Given the description of an element on the screen output the (x, y) to click on. 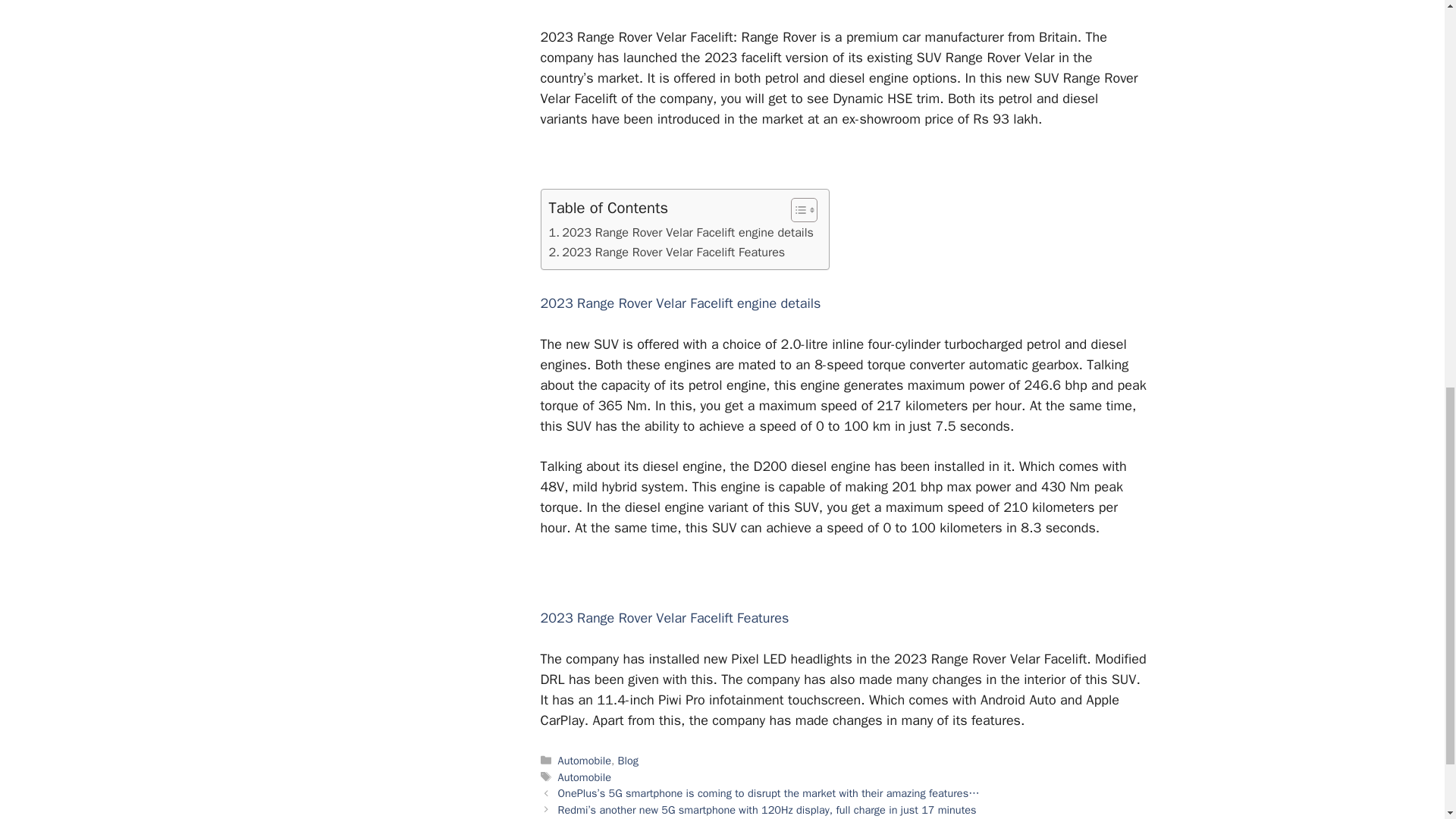
2023 Range Rover Velar Facelift engine details (680, 232)
2023 Range Rover Velar Facelift Features (667, 252)
Automobile (584, 776)
2023 Range Rover Velar Facelift Features (667, 252)
Scroll back to top (1406, 720)
Automobile (584, 760)
2023 Range Rover Velar Facelift engine details (680, 232)
Blog (628, 760)
